Given the description of an element on the screen output the (x, y) to click on. 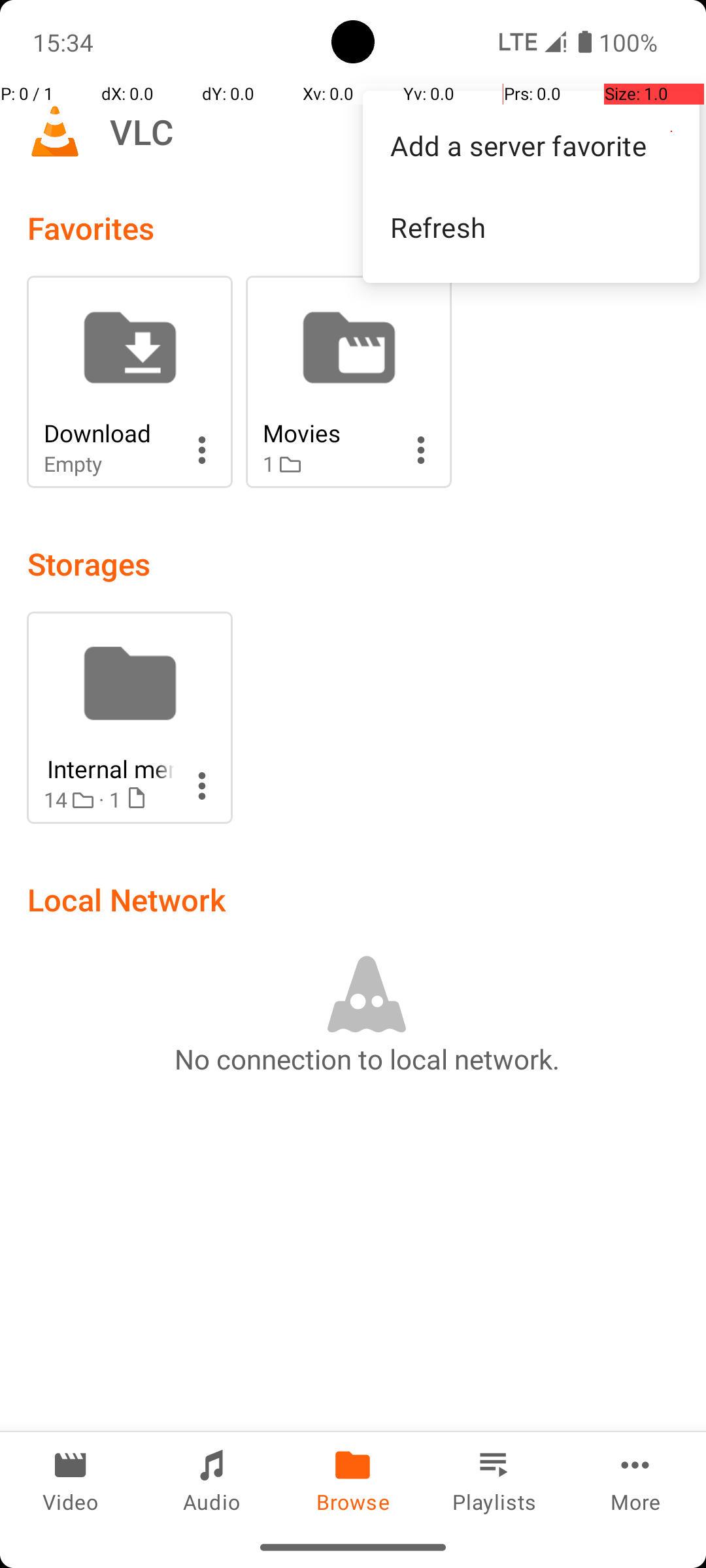
Add a server favorite Element type: android.widget.TextView (531, 144)
